Given the description of an element on the screen output the (x, y) to click on. 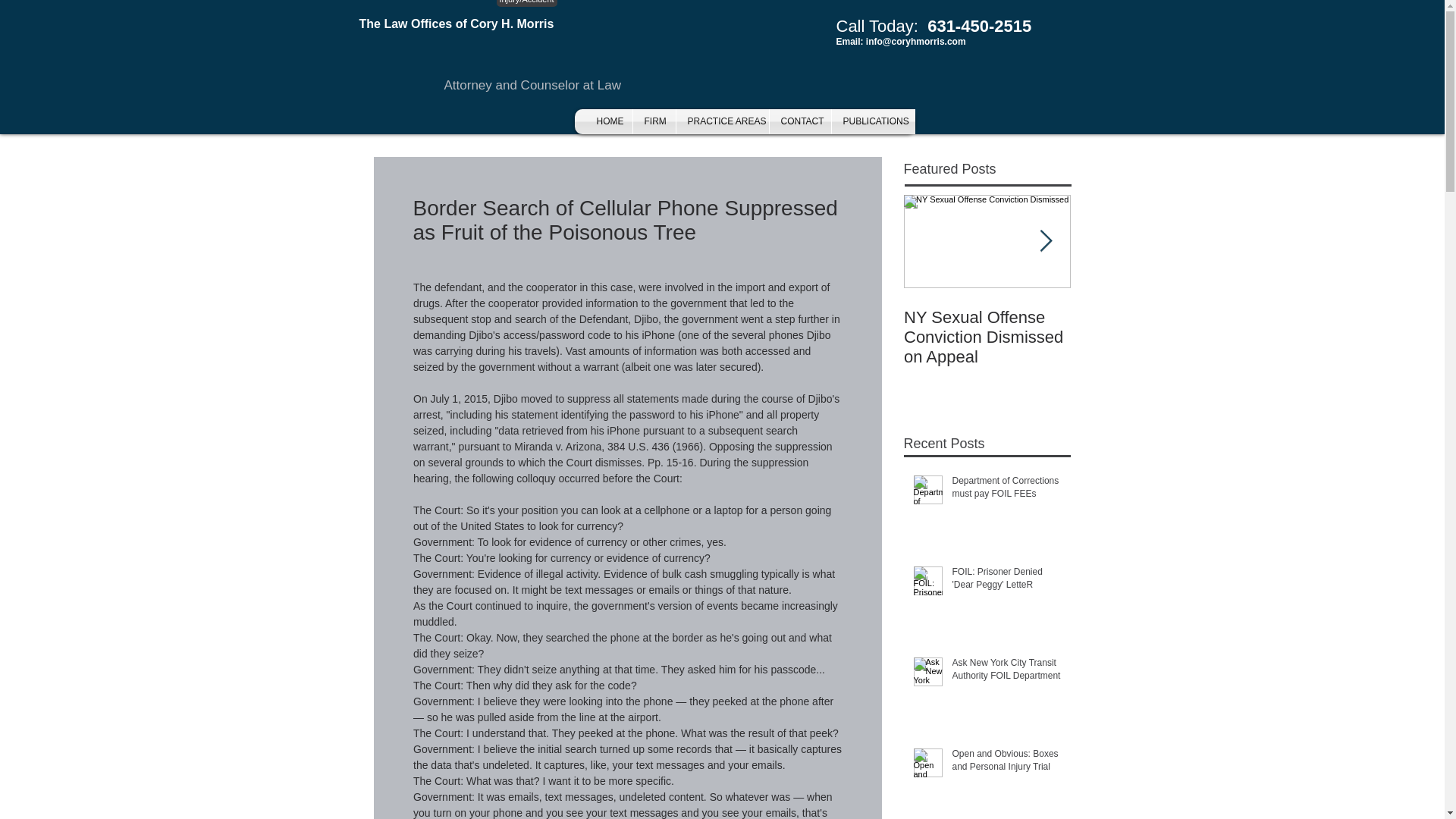
PUBLICATIONS (872, 121)
CONTACT (798, 121)
Open and Obvious: Boxes and Personal Injury Trial (1006, 763)
PRACTICE AREAS (722, 121)
Department of Corrections must pay FOIL FEEs (1006, 490)
NY Sexual Offense Conviction Dismissed on Appeal (987, 336)
HOME (608, 121)
FIRM (653, 121)
FOIL: Prisoner Denied 'Dear Peggy' LetteR (1006, 581)
